Given the description of an element on the screen output the (x, y) to click on. 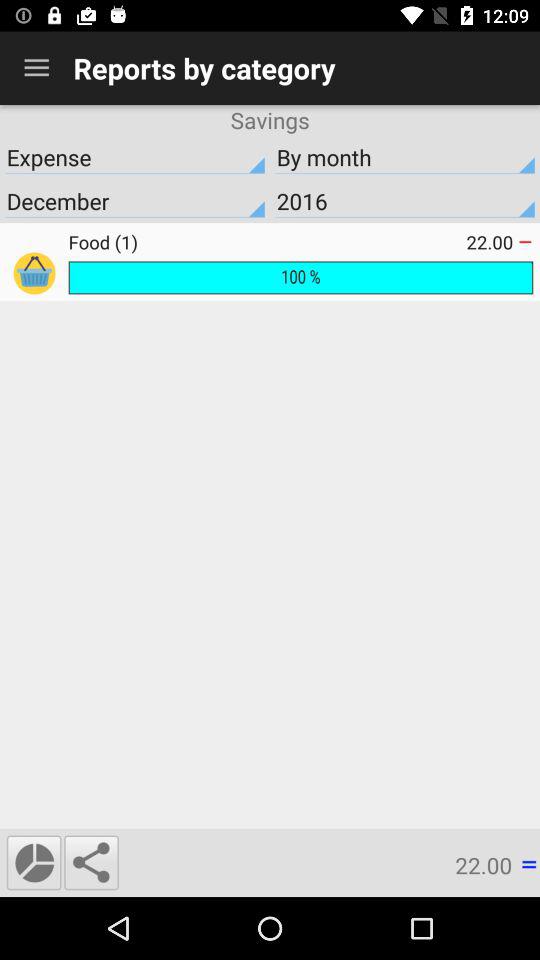
tap the item above food (1) icon (405, 201)
